Given the description of an element on the screen output the (x, y) to click on. 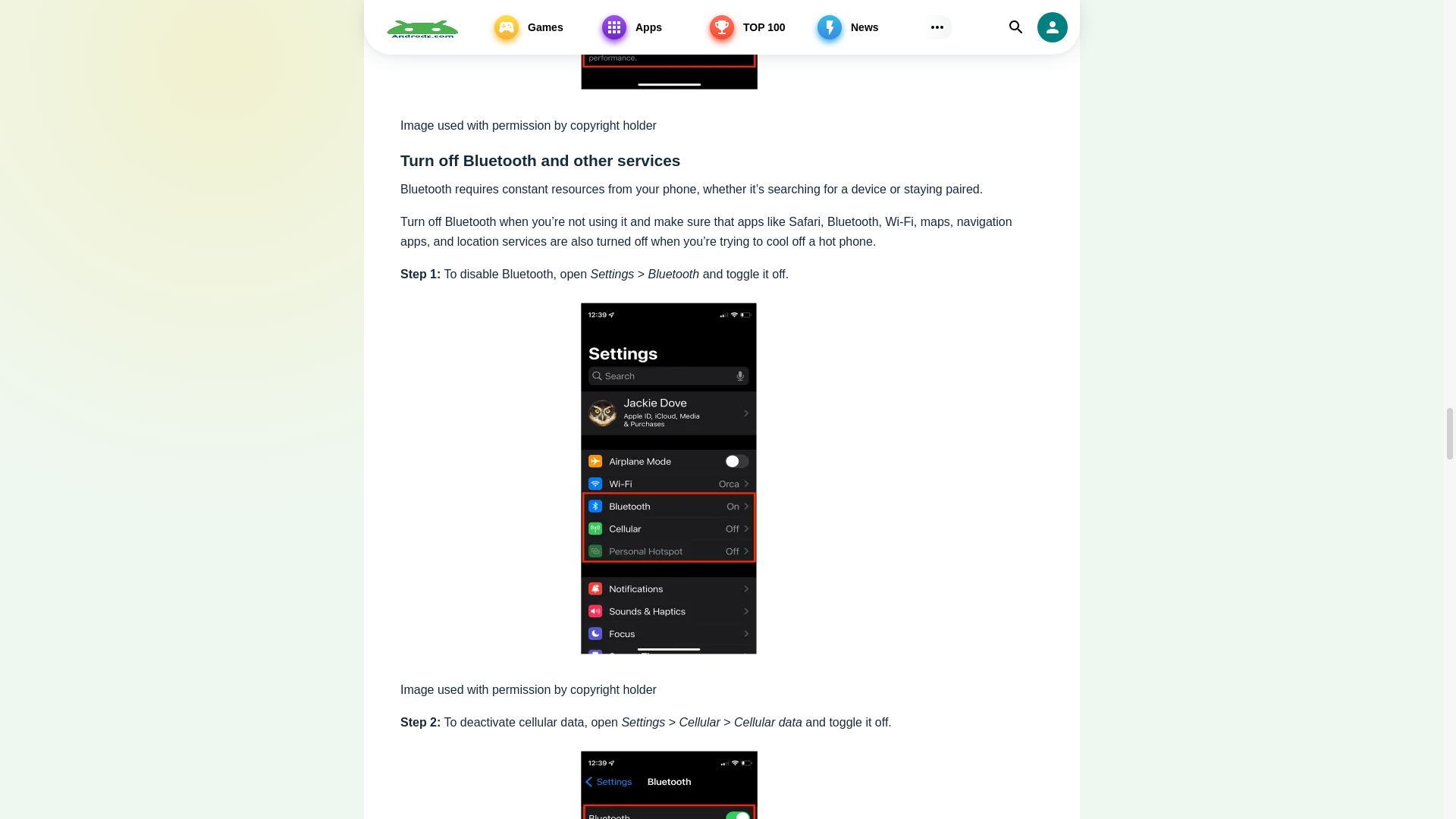
iPhone Overheating? 10 Things to Try Before Calling Apple 8 (673, 47)
iPhone Overheating? 10 Things to Try Before Calling Apple 10 (673, 781)
